Given the description of an element on the screen output the (x, y) to click on. 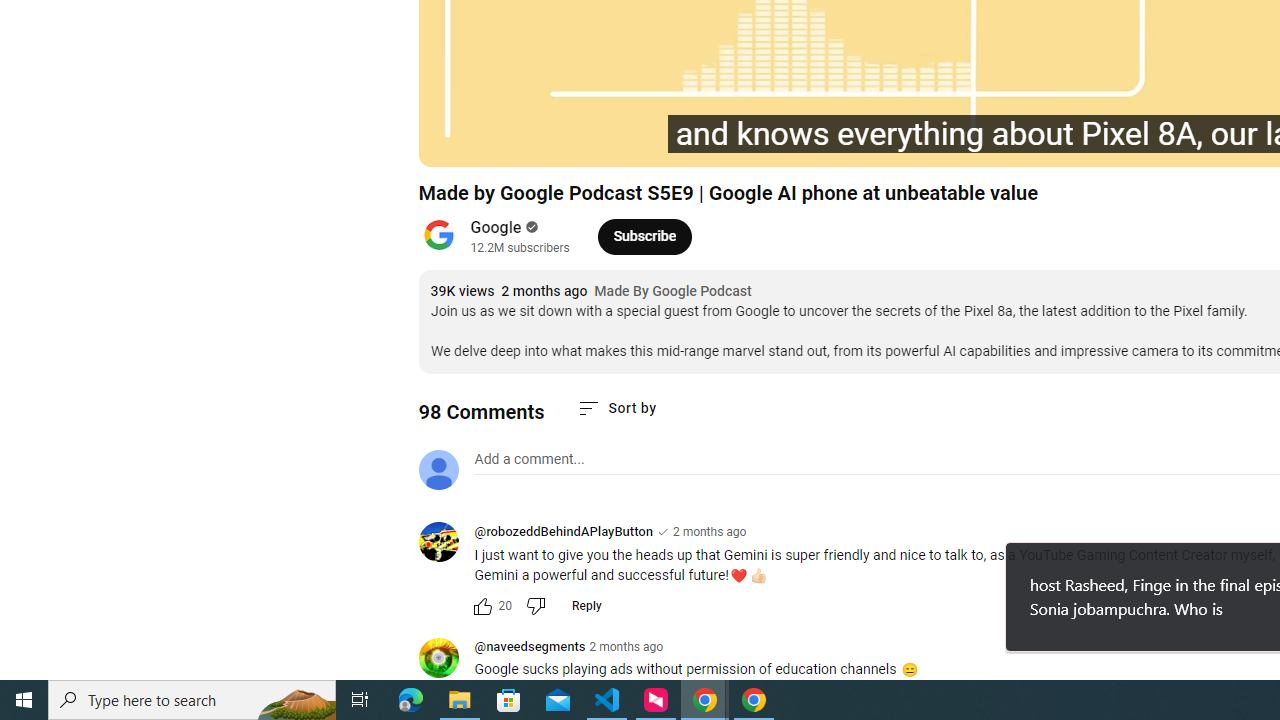
@naveedsegments (446, 659)
Previous (SHIFT+p) (456, 142)
Made By Google Podcast (672, 291)
Pause (k) (502, 142)
Default profile photo (438, 470)
2 months ago (626, 646)
Sort comments (616, 408)
Next (SHIFT+n) (546, 142)
Mute (m) (594, 142)
Dislike this comment (534, 605)
Subscribe to Google. (644, 236)
@naveedsegments (529, 647)
